Given the description of an element on the screen output the (x, y) to click on. 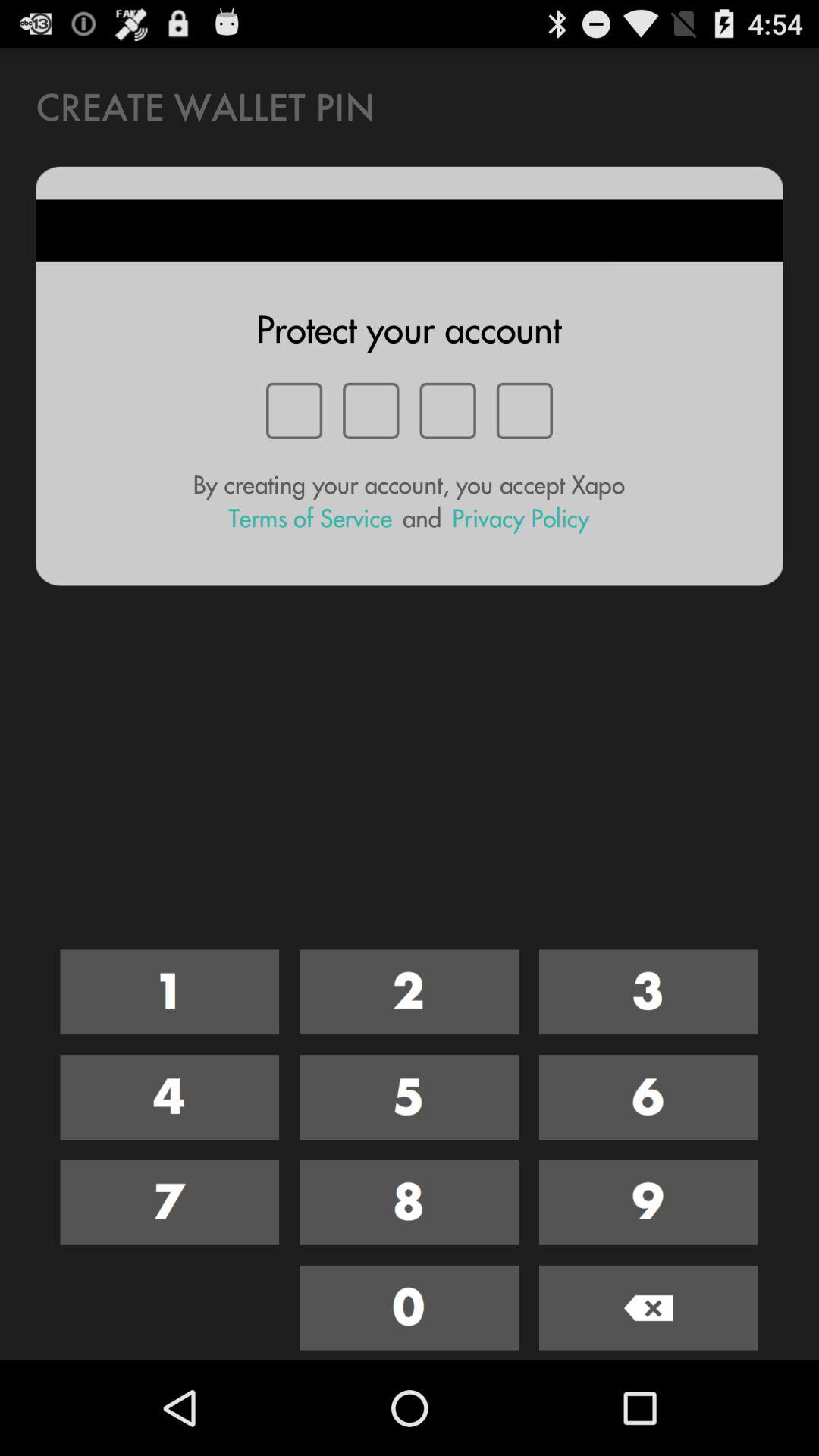
press the item below by creating your item (310, 518)
